Given the description of an element on the screen output the (x, y) to click on. 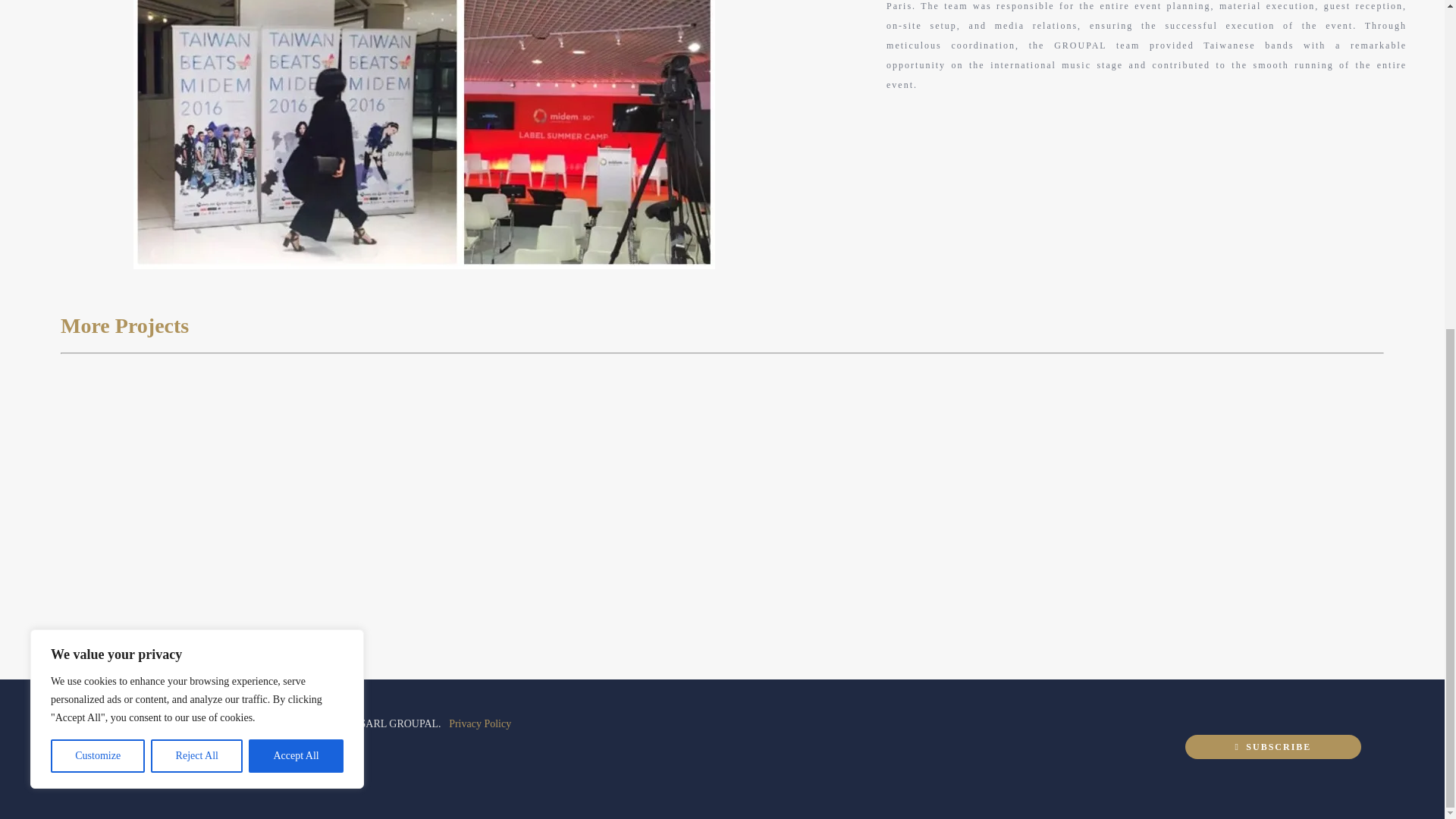
Customize (97, 213)
SUBSCRIBE (1074, 749)
Reject All (197, 213)
Accept All (295, 213)
